Given the description of an element on the screen output the (x, y) to click on. 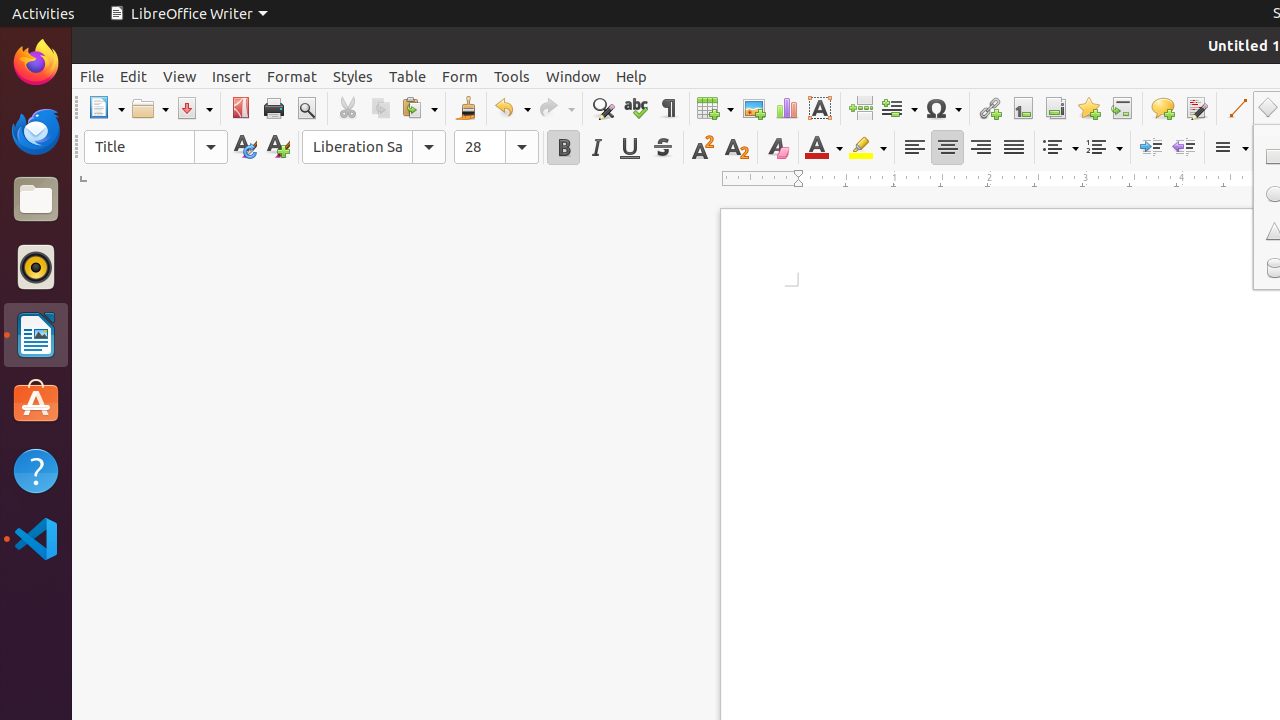
Font Color Element type: push-button (824, 147)
File Element type: menu (92, 76)
Edit Element type: menu (133, 76)
Track Changes Functions Element type: toggle-button (1195, 108)
Font Size Element type: combo-box (496, 147)
